Given the description of an element on the screen output the (x, y) to click on. 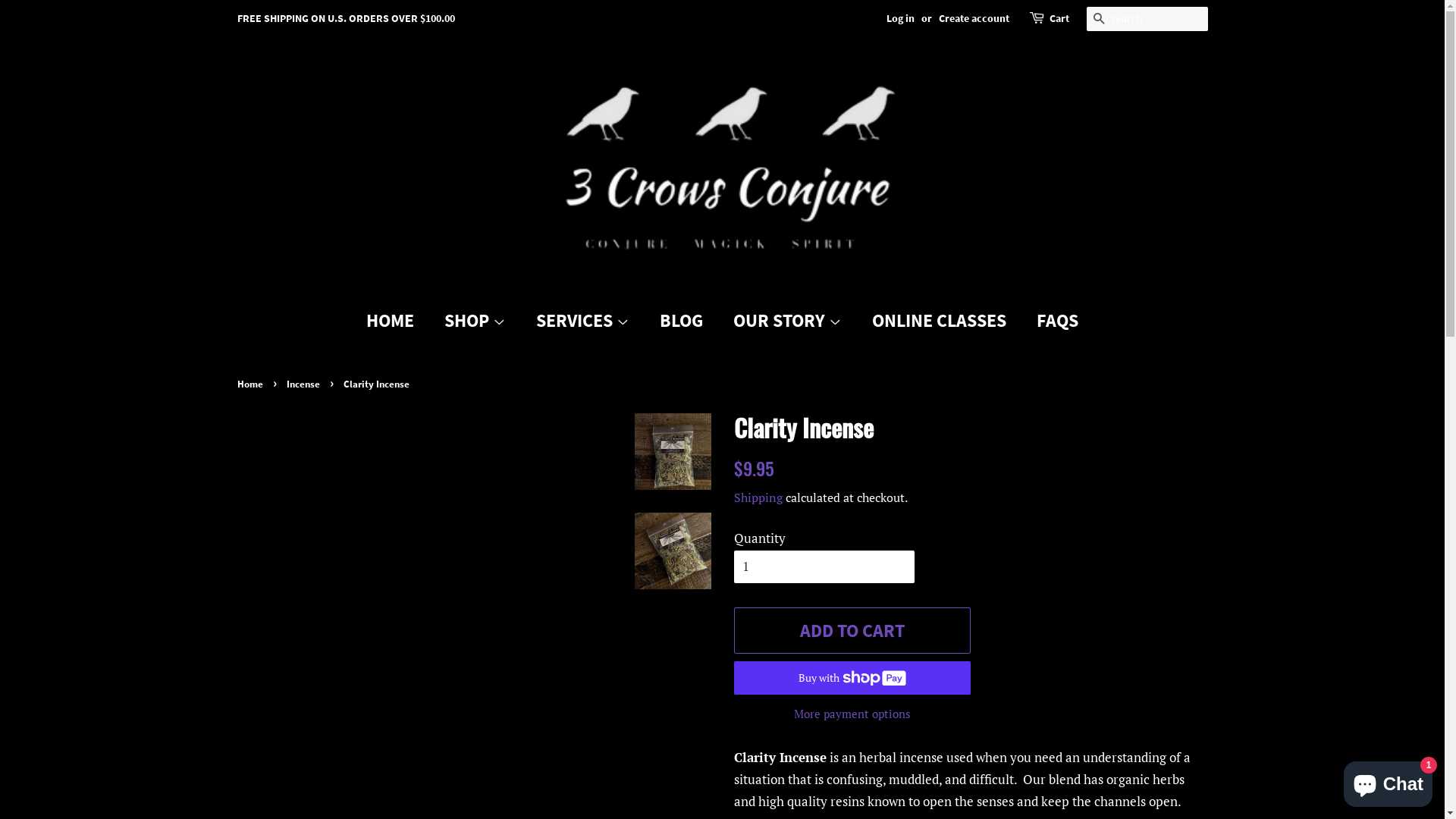
SEARCH Element type: text (1097, 18)
ONLINE CLASSES Element type: text (940, 321)
Cart Element type: text (1059, 18)
Home Element type: text (251, 383)
Shopify online store chat Element type: hover (1388, 780)
OUR STORY Element type: text (788, 321)
SHOP Element type: text (476, 321)
SERVICES Element type: text (584, 321)
FAQS Element type: text (1051, 321)
Log in Element type: text (899, 18)
More payment options Element type: text (852, 713)
HOME Element type: text (397, 321)
Create account Element type: text (973, 18)
BLOG Element type: text (683, 321)
Shipping Element type: text (758, 497)
Incense Element type: text (304, 383)
ADD TO CART Element type: text (852, 630)
